Given the description of an element on the screen output the (x, y) to click on. 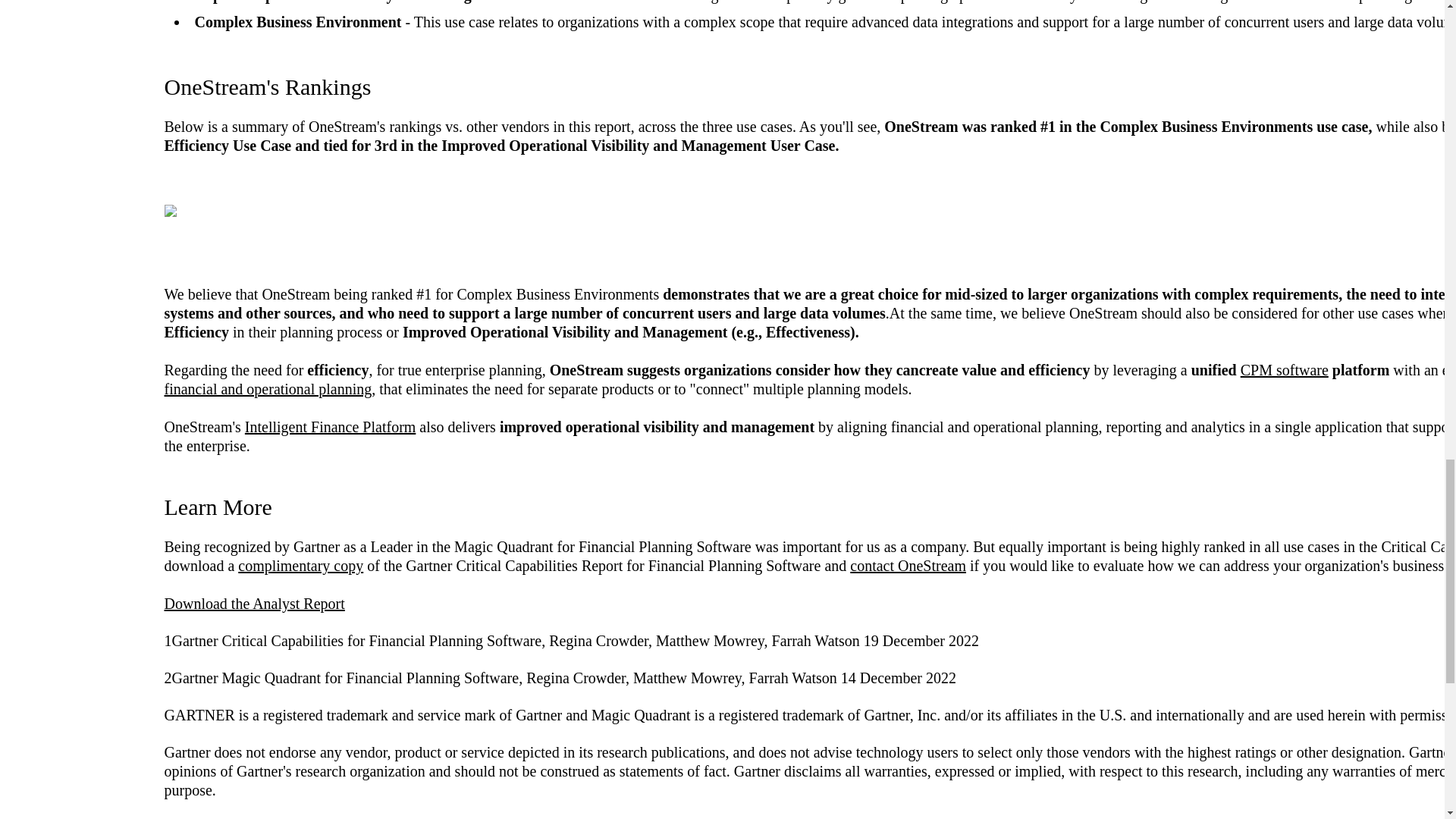
contact OneStream (908, 565)
complimentary copy (300, 565)
financial and operational planning (267, 388)
Download the Analyst Report (253, 603)
CPM software (1283, 369)
Intelligent Finance Platform (330, 426)
